Given the description of an element on the screen output the (x, y) to click on. 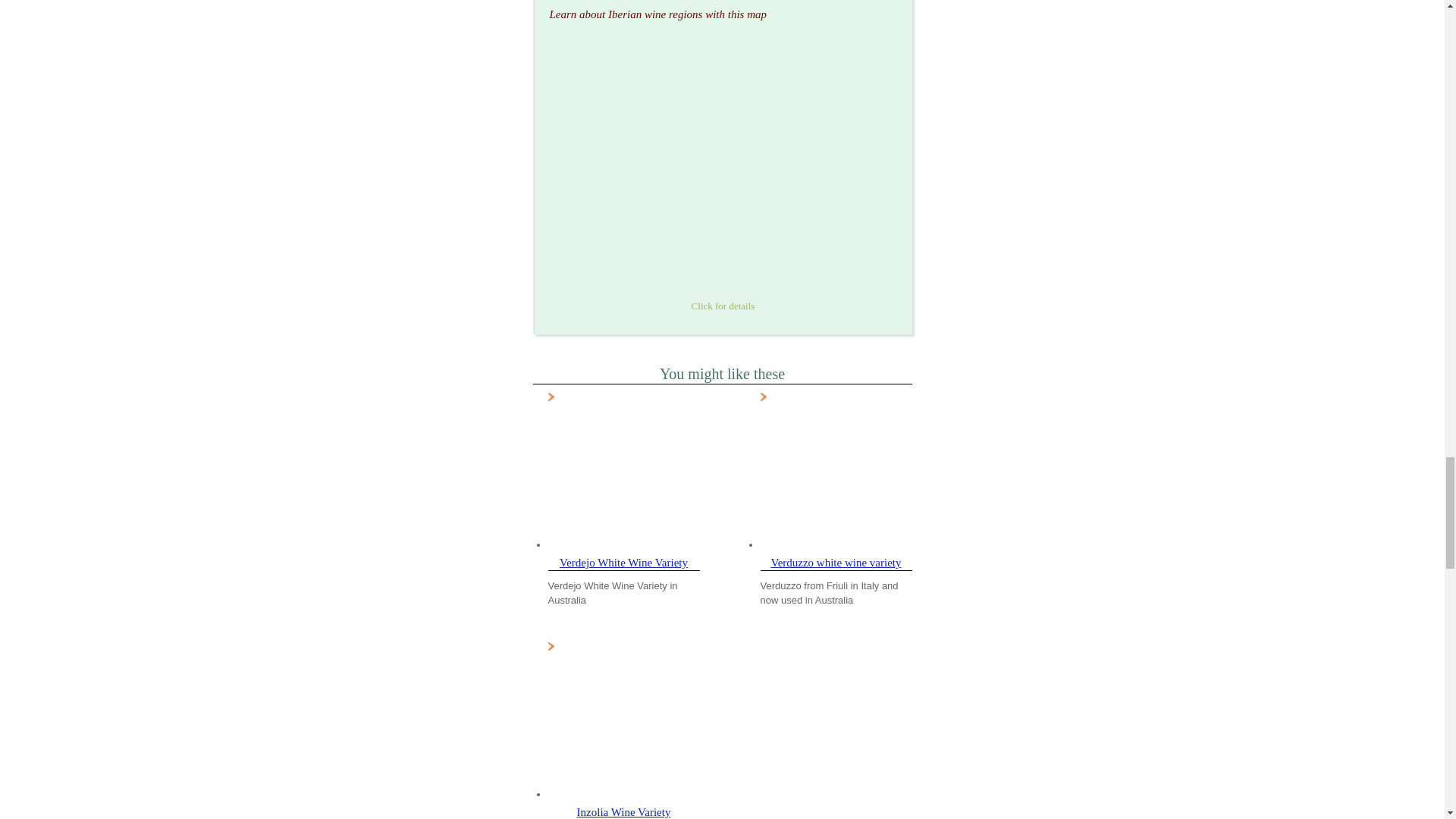
Click for details (722, 297)
Inzolia Wine Variety (623, 811)
Verduzzo white wine variety (835, 562)
Verdejo White Wine Variety (623, 562)
digital spain (722, 164)
